Given the description of an element on the screen output the (x, y) to click on. 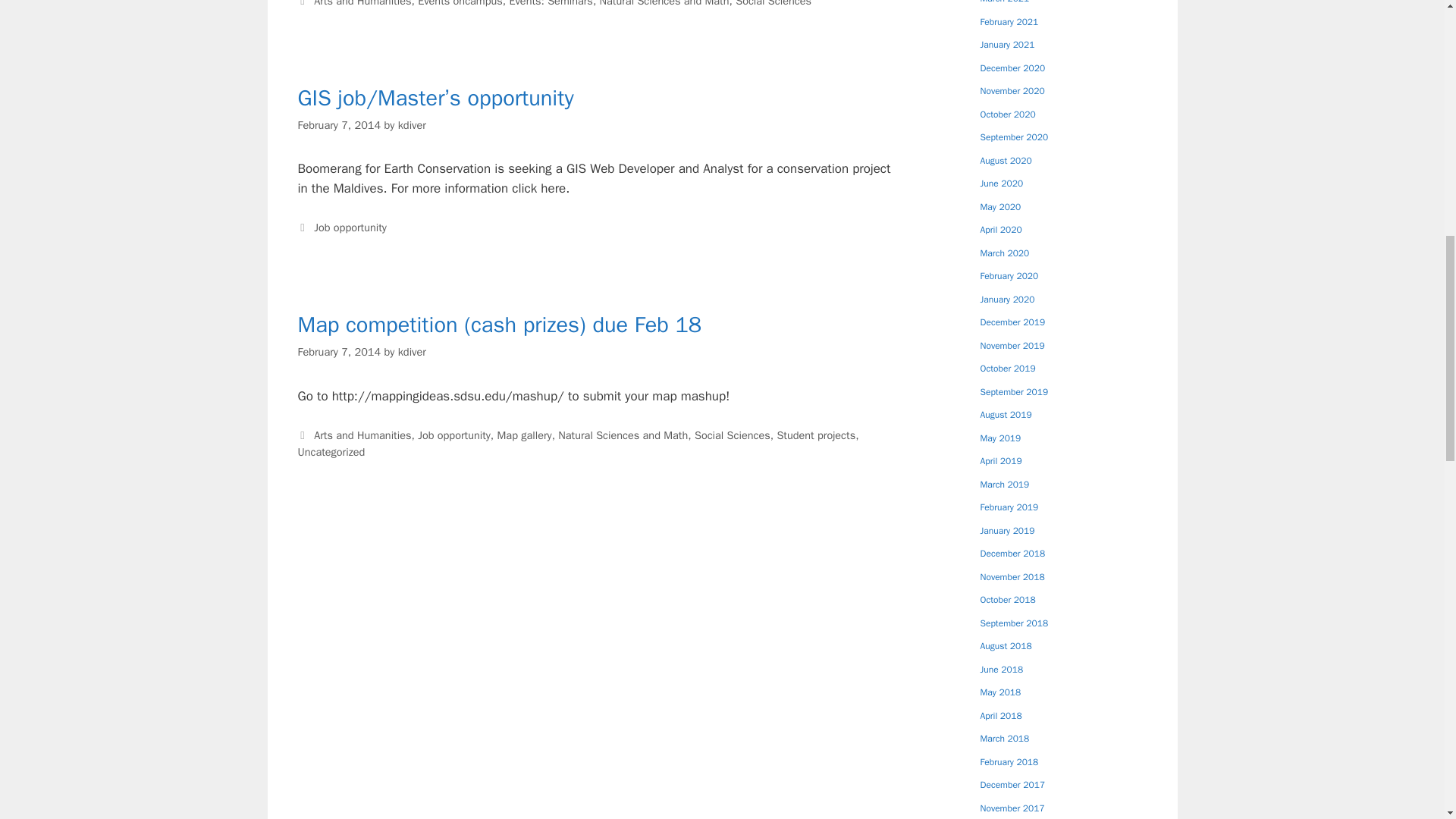
Social Sciences (772, 3)
View all posts by kdiver (411, 124)
Natural Sciences and Math (664, 3)
Events: Seminars (550, 3)
Arts and Humanities (362, 3)
kdiver (411, 351)
Events oncampus (459, 3)
kdiver (411, 124)
Arts and Humanities (362, 435)
Job opportunity (453, 435)
View all posts by kdiver (411, 351)
Job opportunity (350, 227)
